Given the description of an element on the screen output the (x, y) to click on. 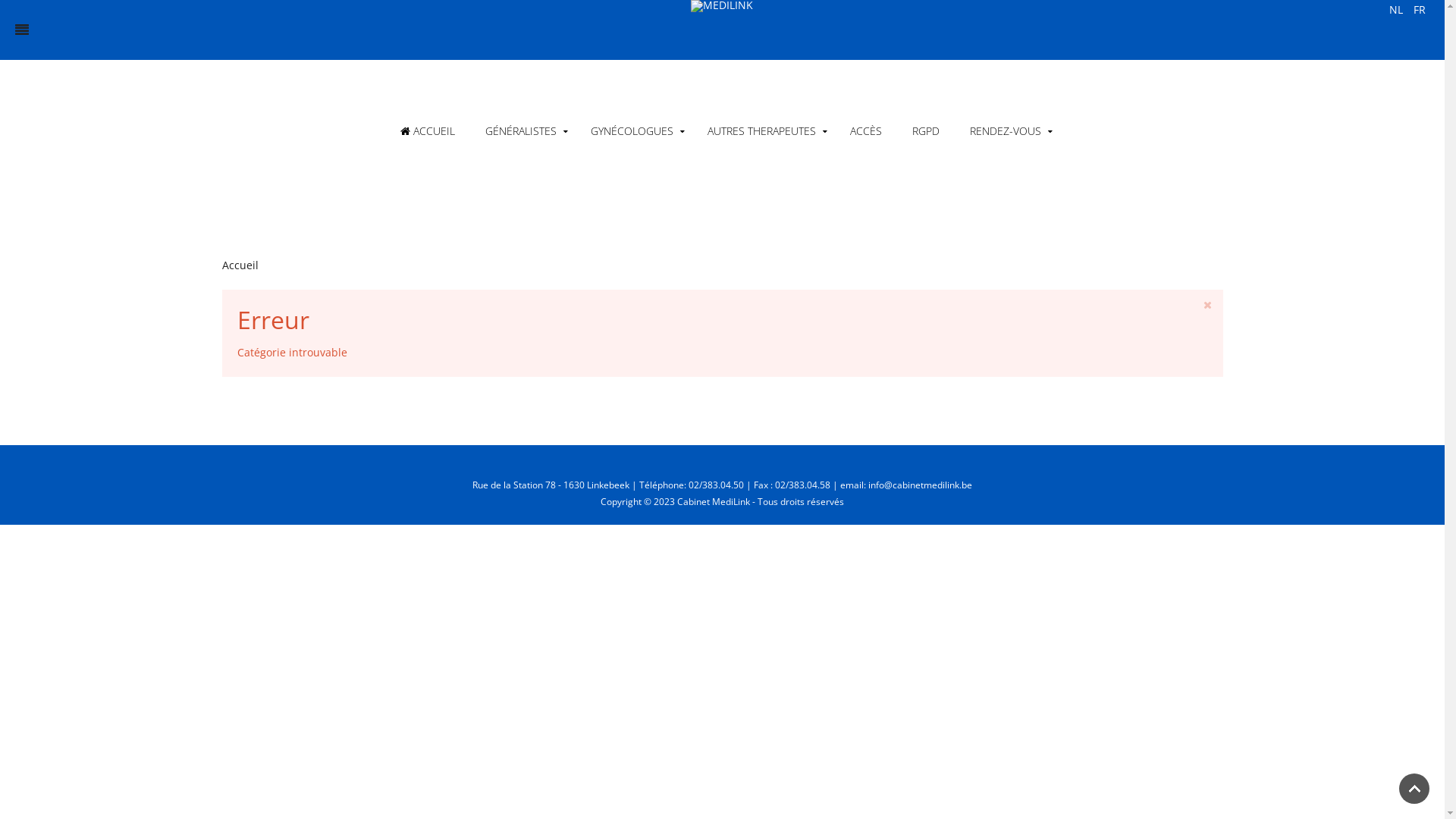
NL Element type: text (1397, 9)
FR Element type: text (1419, 9)
ACCUEIL Element type: text (427, 130)
AUTRES THERAPEUTES Element type: text (762, 130)
RGPD Element type: text (924, 130)
    Element type: text (721, 29)
RENDEZ-VOUS Element type: text (1006, 130)
